Given the description of an element on the screen output the (x, y) to click on. 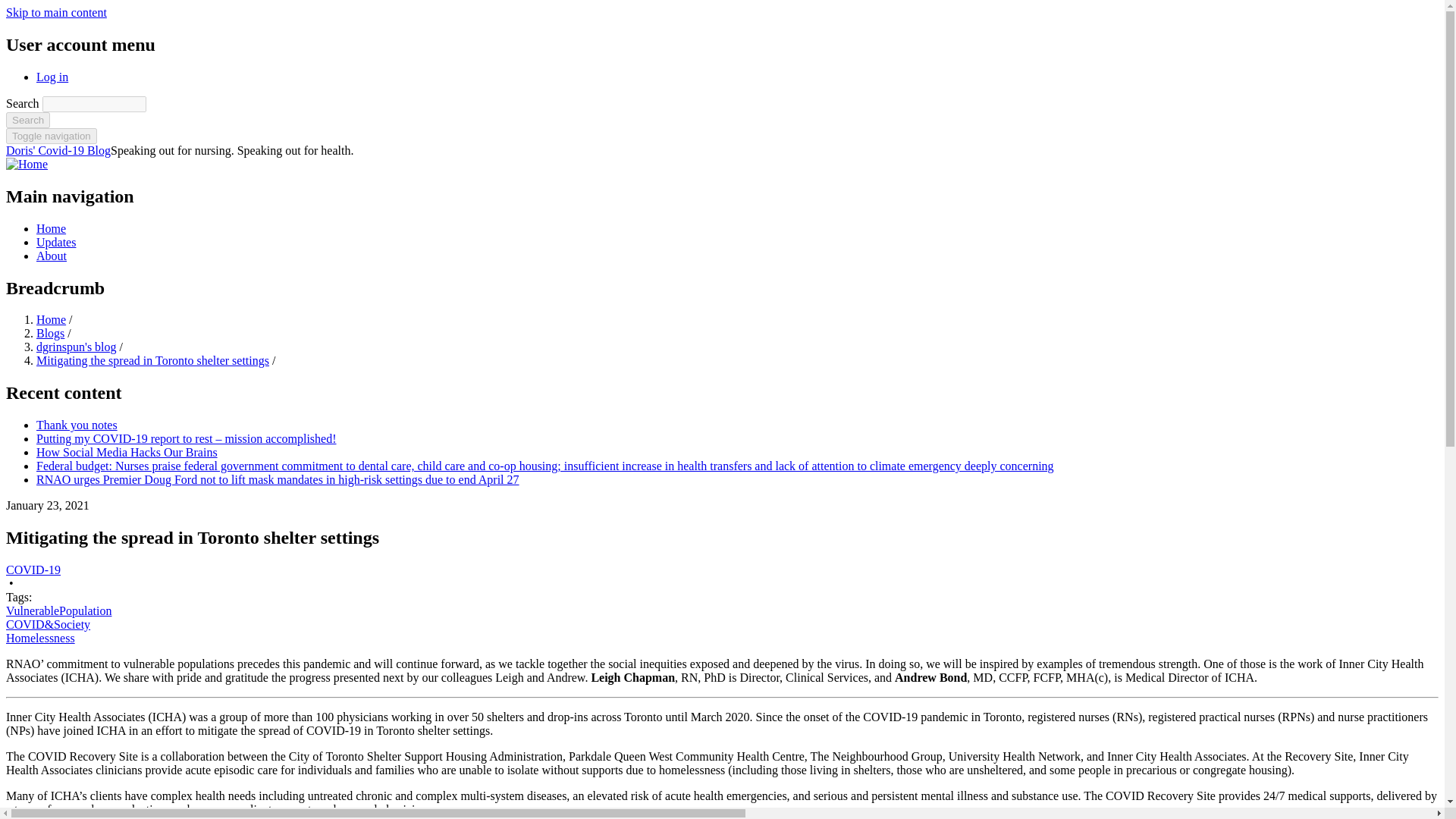
Home (57, 150)
Skip to main content (55, 11)
dgrinspun's blog (76, 346)
VulnerablePopulation (58, 610)
Search (27, 119)
Blogs (50, 332)
How Social Media Hacks Our Brains (126, 451)
Home (50, 228)
Thank you notes (76, 424)
Mitigating the spread in Toronto shelter settings (152, 359)
Homelessness (40, 637)
About (51, 255)
Search (27, 119)
